Given the description of an element on the screen output the (x, y) to click on. 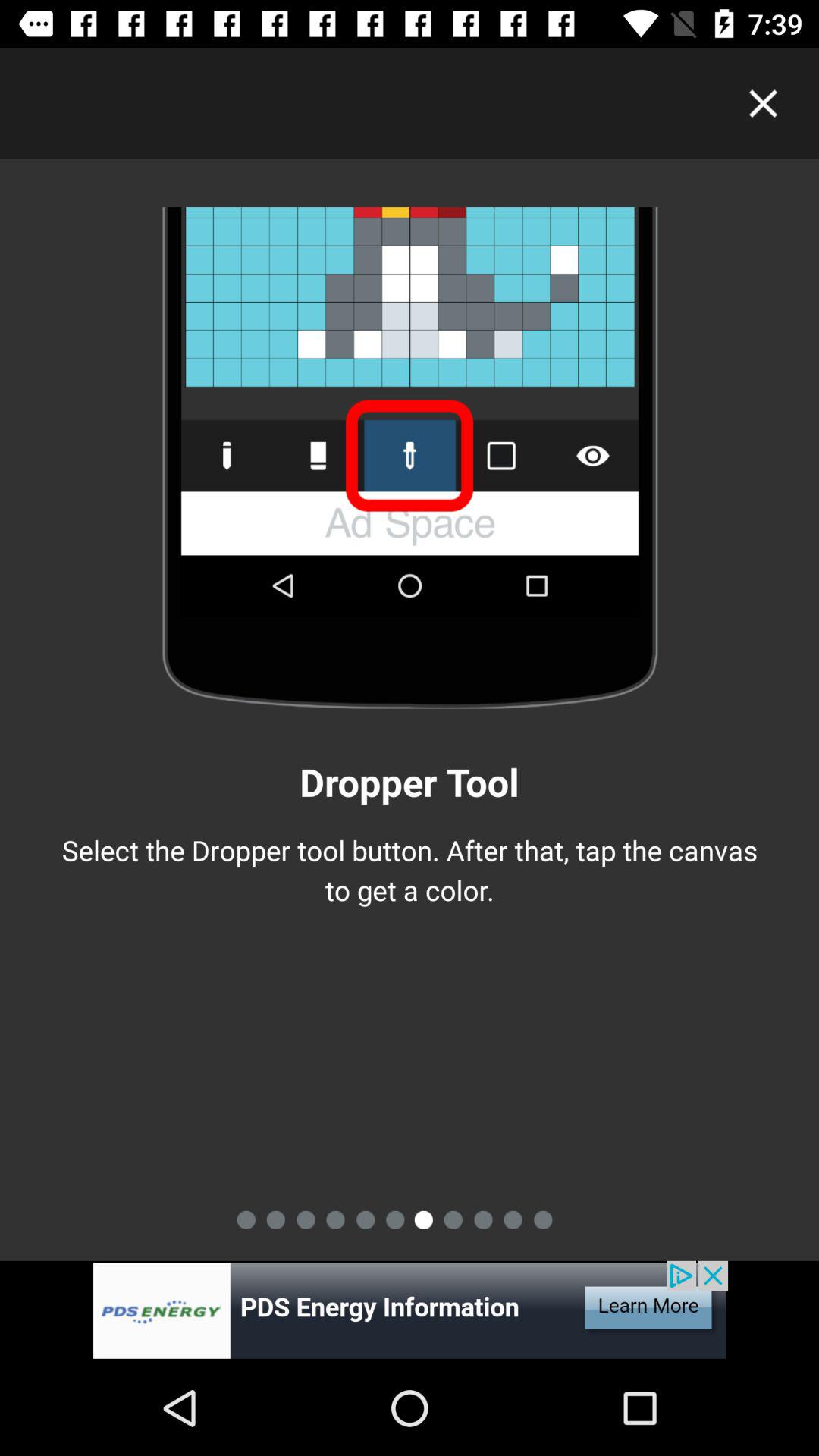
close screen (763, 103)
